Given the description of an element on the screen output the (x, y) to click on. 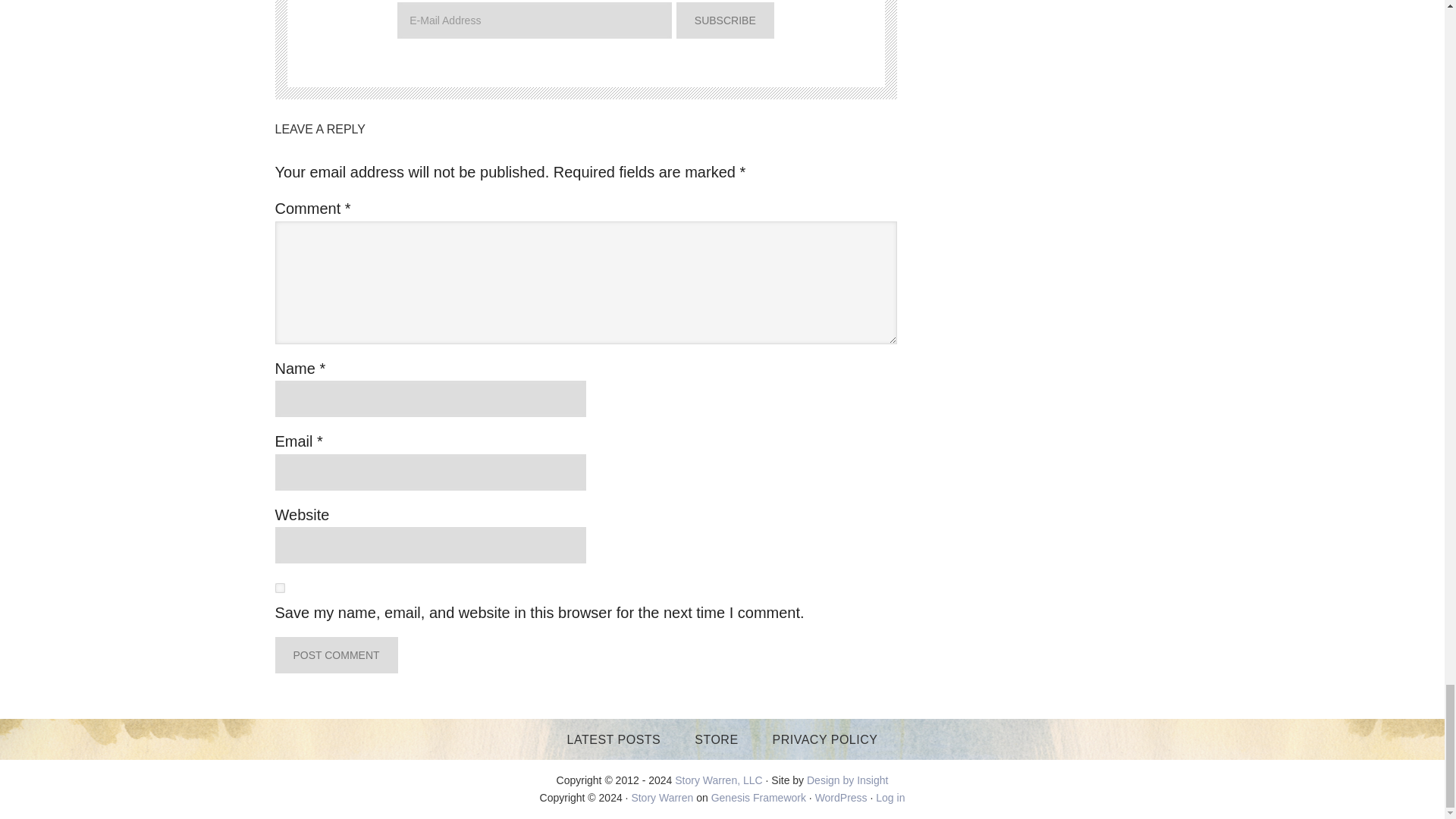
Post Comment (336, 655)
Subscribe (725, 20)
yes (279, 587)
